Given the description of an element on the screen output the (x, y) to click on. 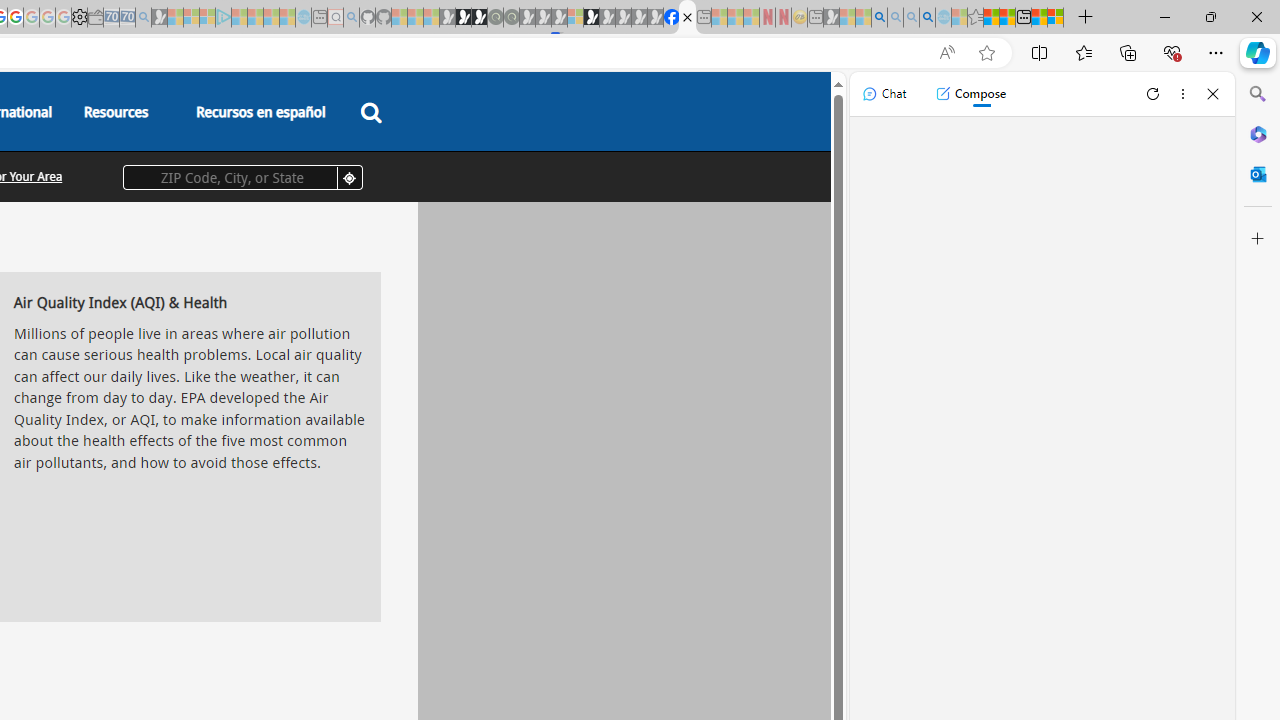
Future Focus Report 2024 - Sleeping (511, 17)
Google Chrome Internet Browser Download - Search Images (927, 17)
Sign in to your account - Sleeping (575, 17)
